Given the description of an element on the screen output the (x, y) to click on. 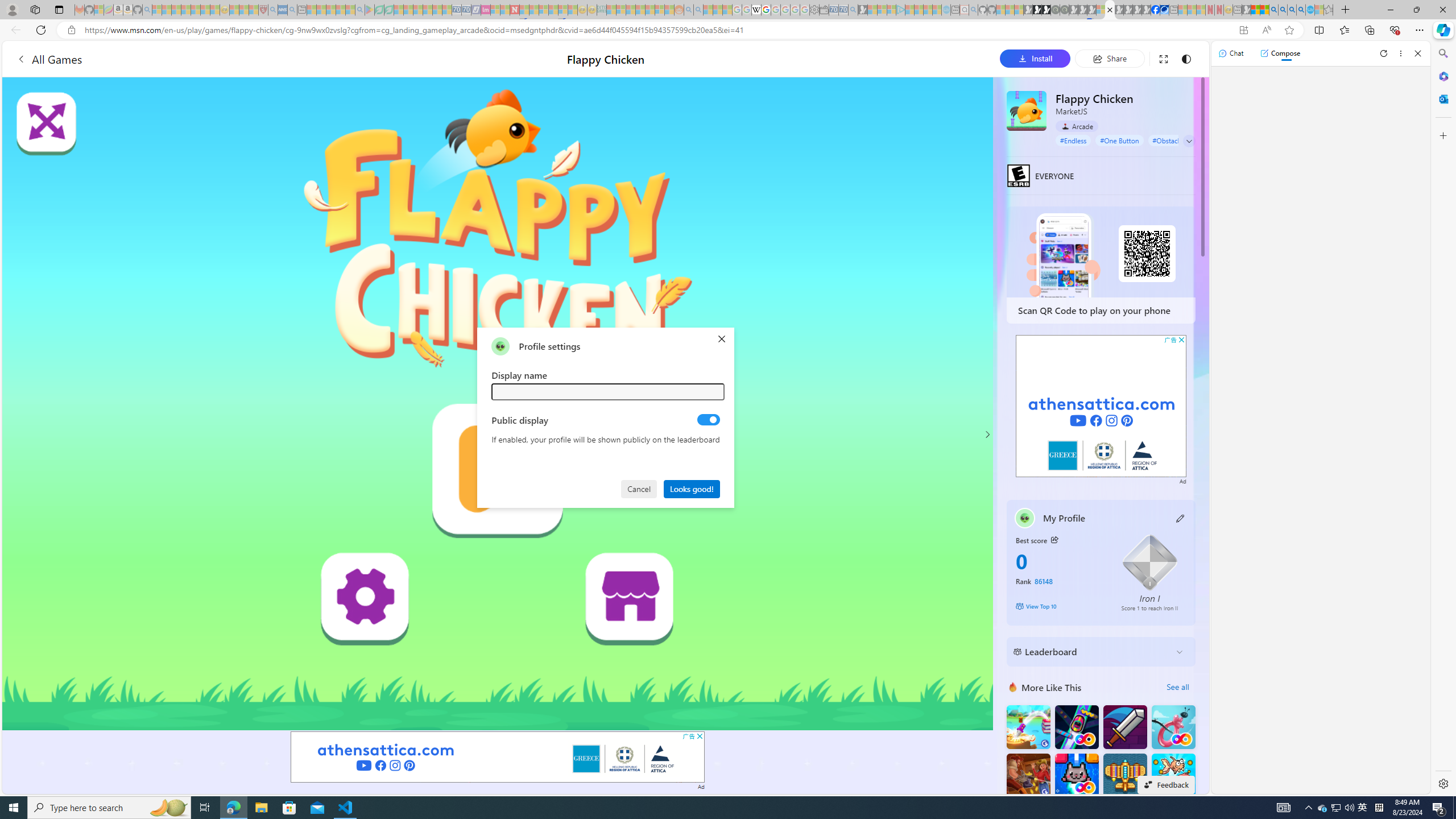
Arcade (1076, 126)
Flappy Chicken (1026, 110)
Cancel (639, 488)
Atlantic Sky Hunter (1124, 775)
Bumper Car FRVR (1076, 726)
